Given the description of an element on the screen output the (x, y) to click on. 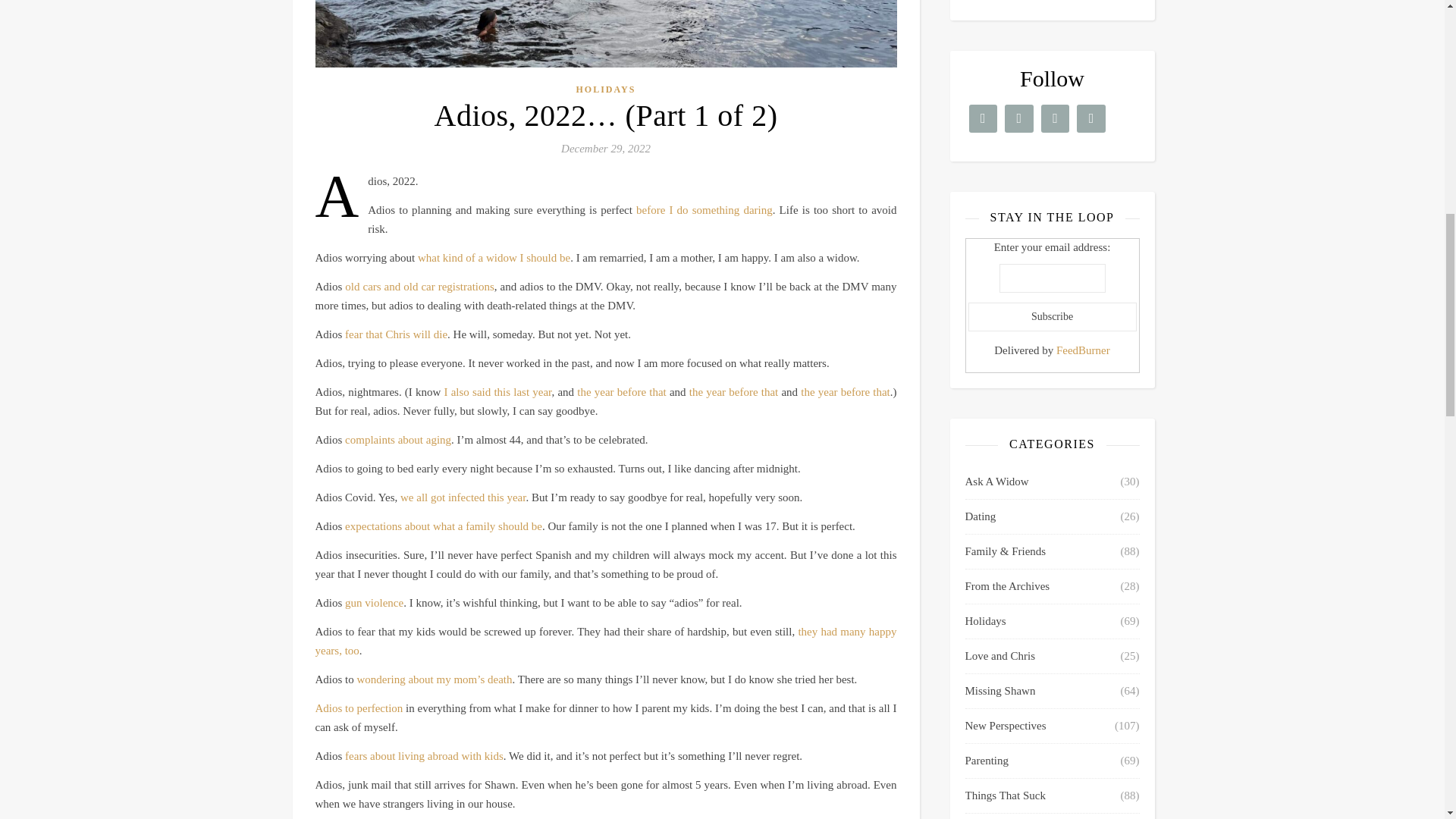
HOLIDAYS (606, 89)
the year before that (844, 391)
Adios to perfection (359, 707)
expectations about what a family should be (443, 526)
the year before that (732, 391)
what kind of a widow I should be (493, 257)
fear that Chris will die (395, 334)
fears about living abroad with kids (424, 756)
they had many happy years, too (605, 640)
Subscribe (1051, 316)
